Given the description of an element on the screen output the (x, y) to click on. 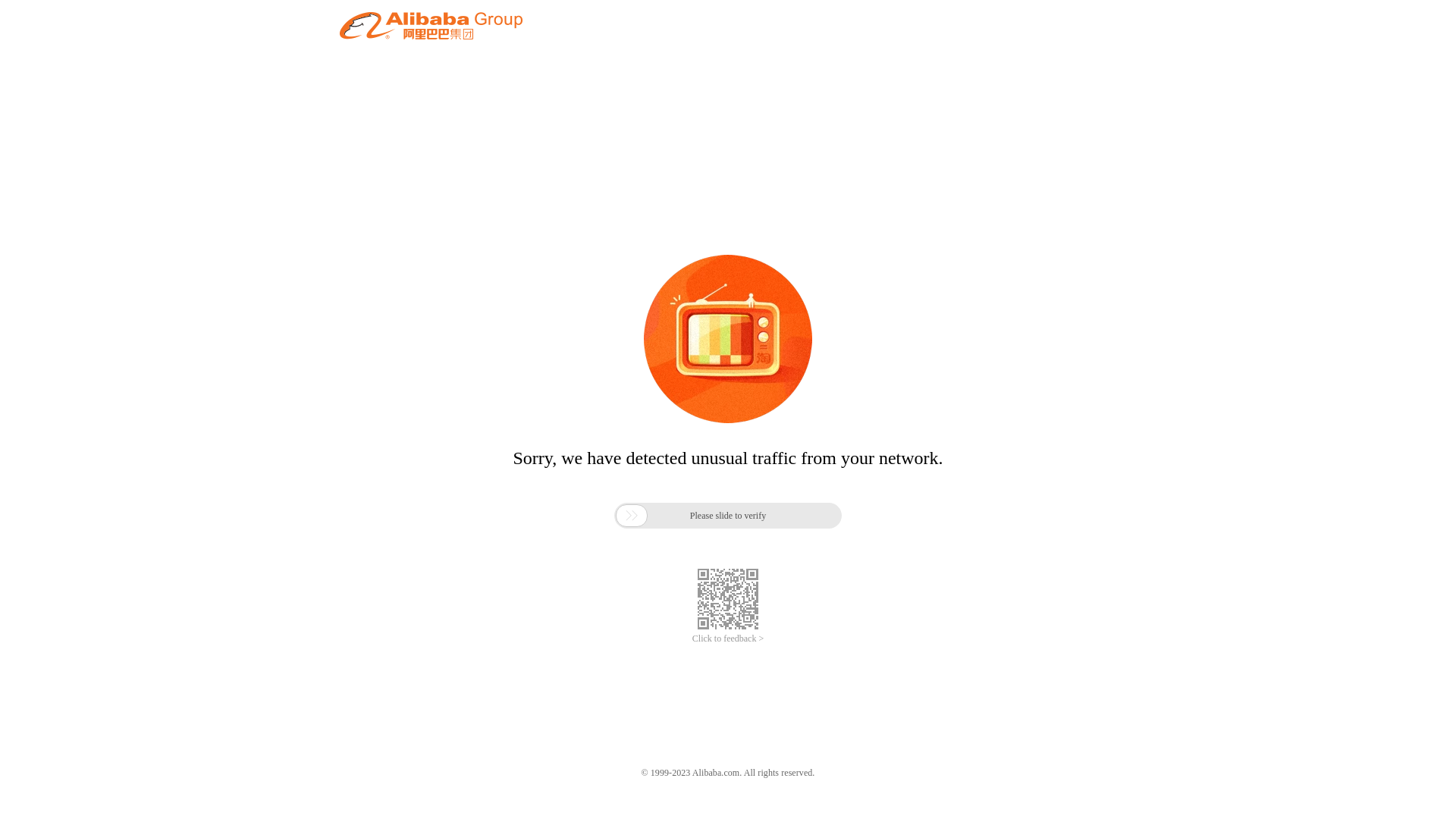
Click to feedback > Element type: text (727, 638)
